Given the description of an element on the screen output the (x, y) to click on. 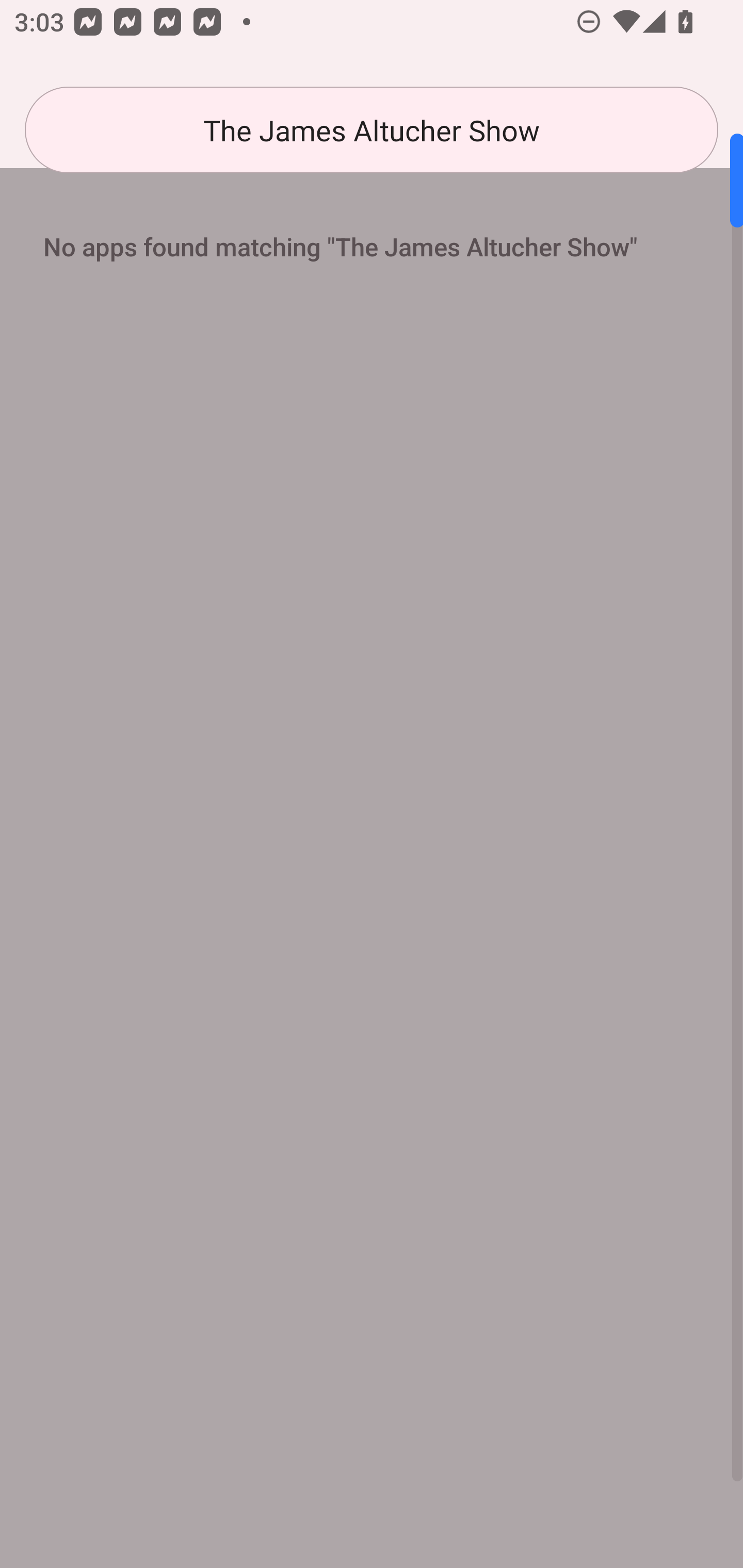
The James Altucher Show (371, 130)
